Given the description of an element on the screen output the (x, y) to click on. 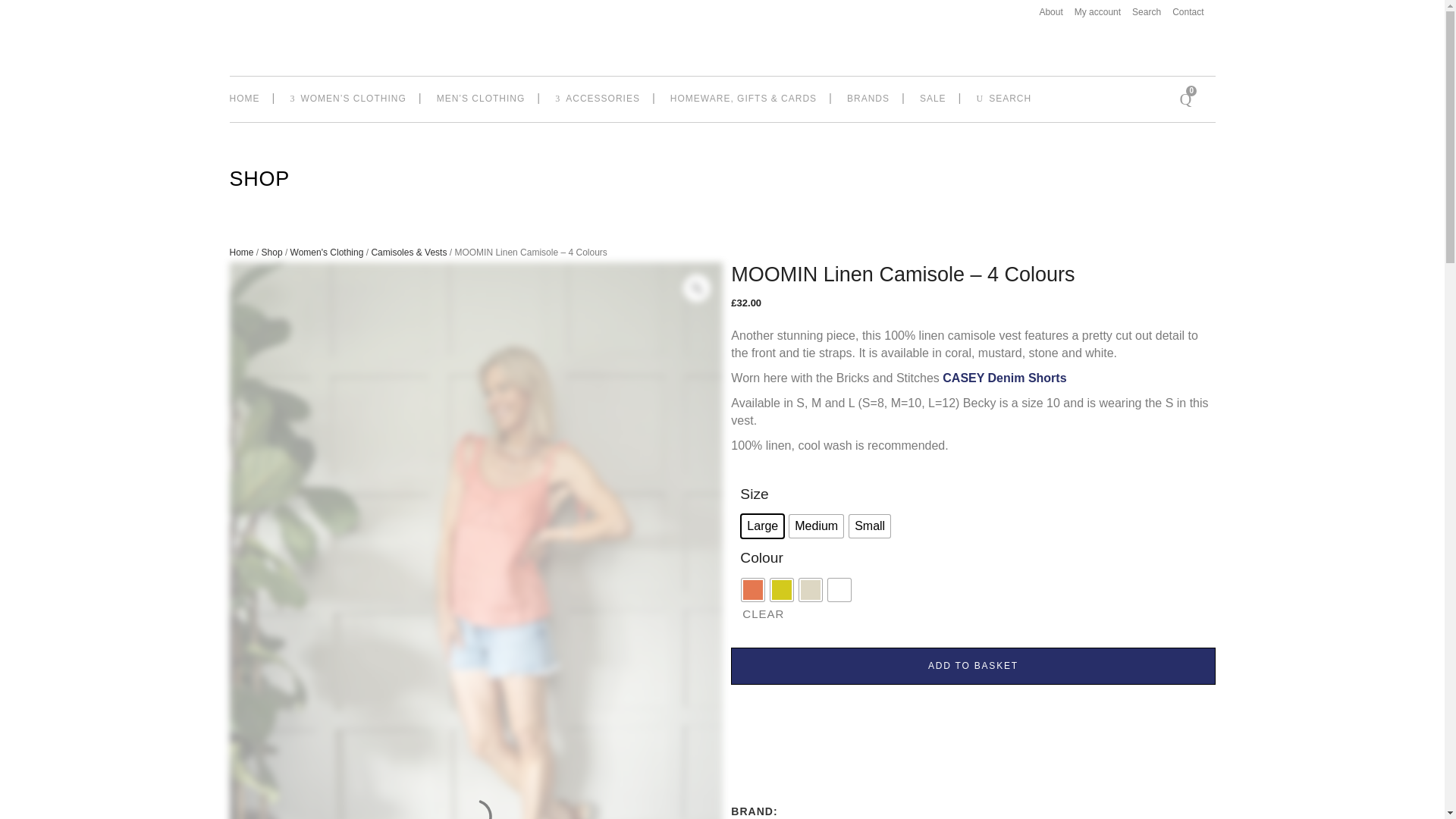
ACCESSORIES (597, 98)
Contact (1182, 12)
Search (1140, 12)
My account (1091, 12)
HOME (250, 98)
About (1044, 12)
